Given the description of an element on the screen output the (x, y) to click on. 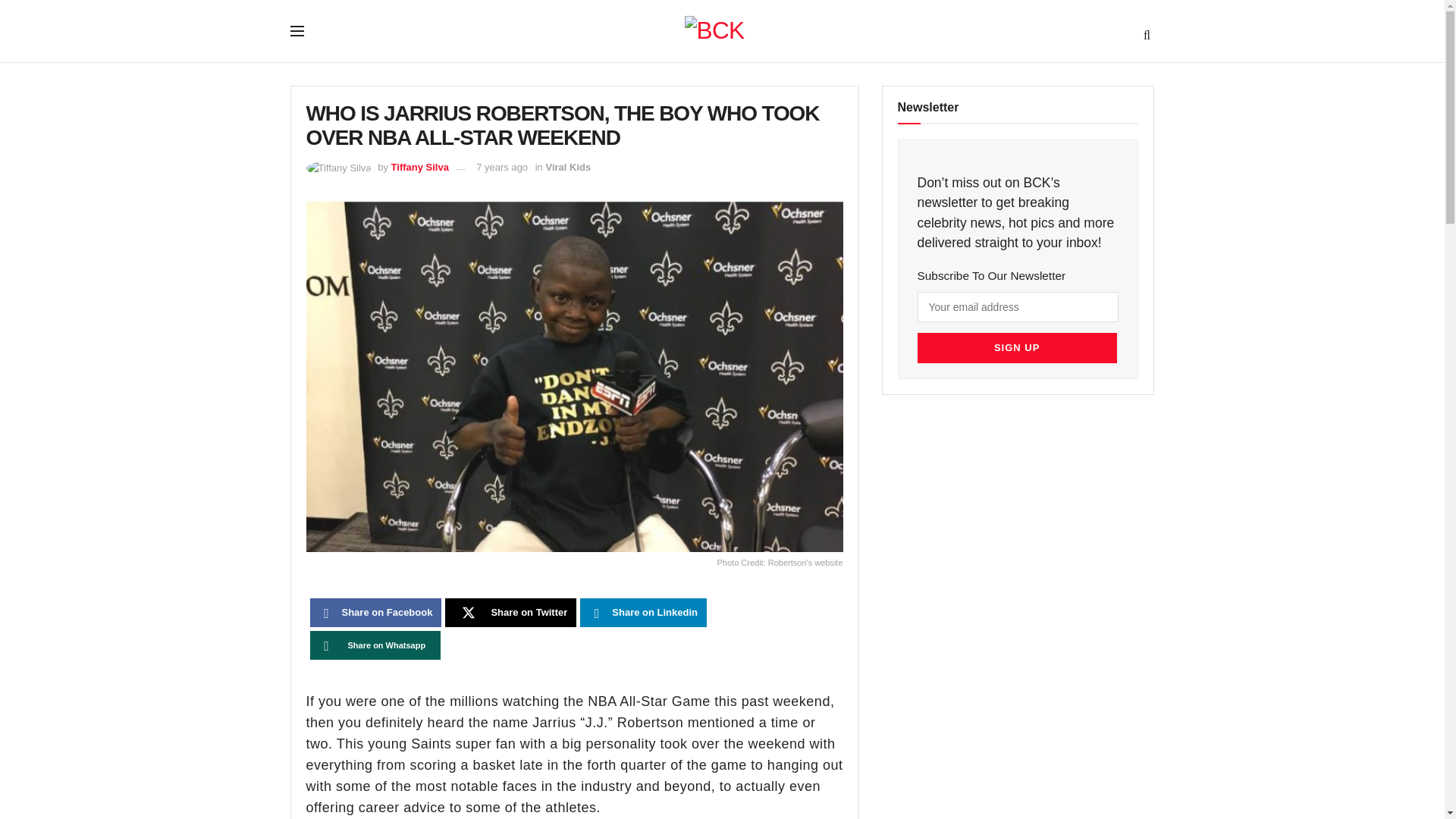
Share on Twitter (510, 612)
Share on Linkedin (642, 612)
Viral Kids (567, 166)
Sign up (1016, 347)
7 years ago (501, 166)
Share on Facebook (374, 612)
Tiffany Silva (419, 166)
Share on Whatsapp (374, 645)
